Given the description of an element on the screen output the (x, y) to click on. 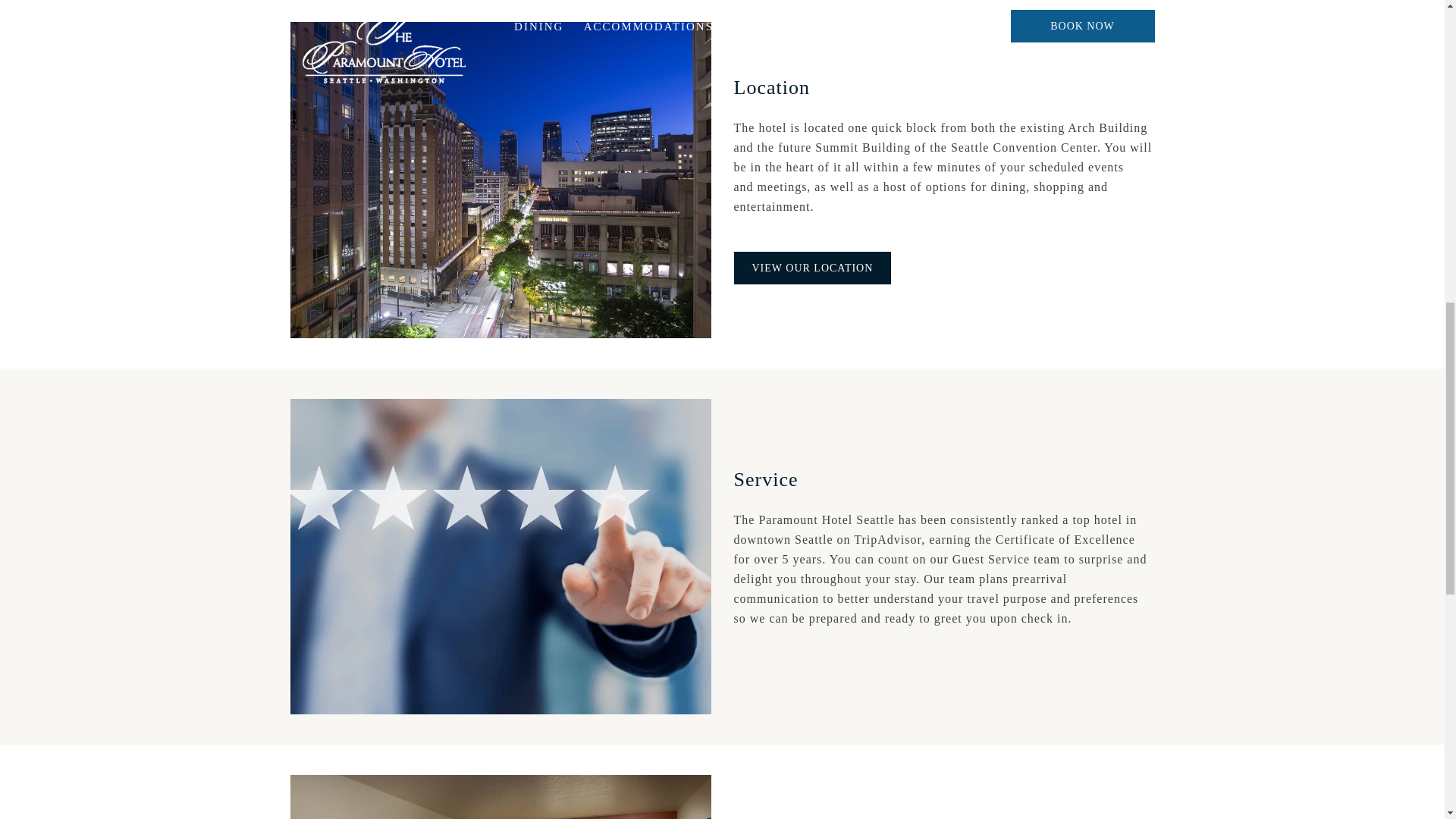
VIEW OUR LOCATION (812, 267)
